Given the description of an element on the screen output the (x, y) to click on. 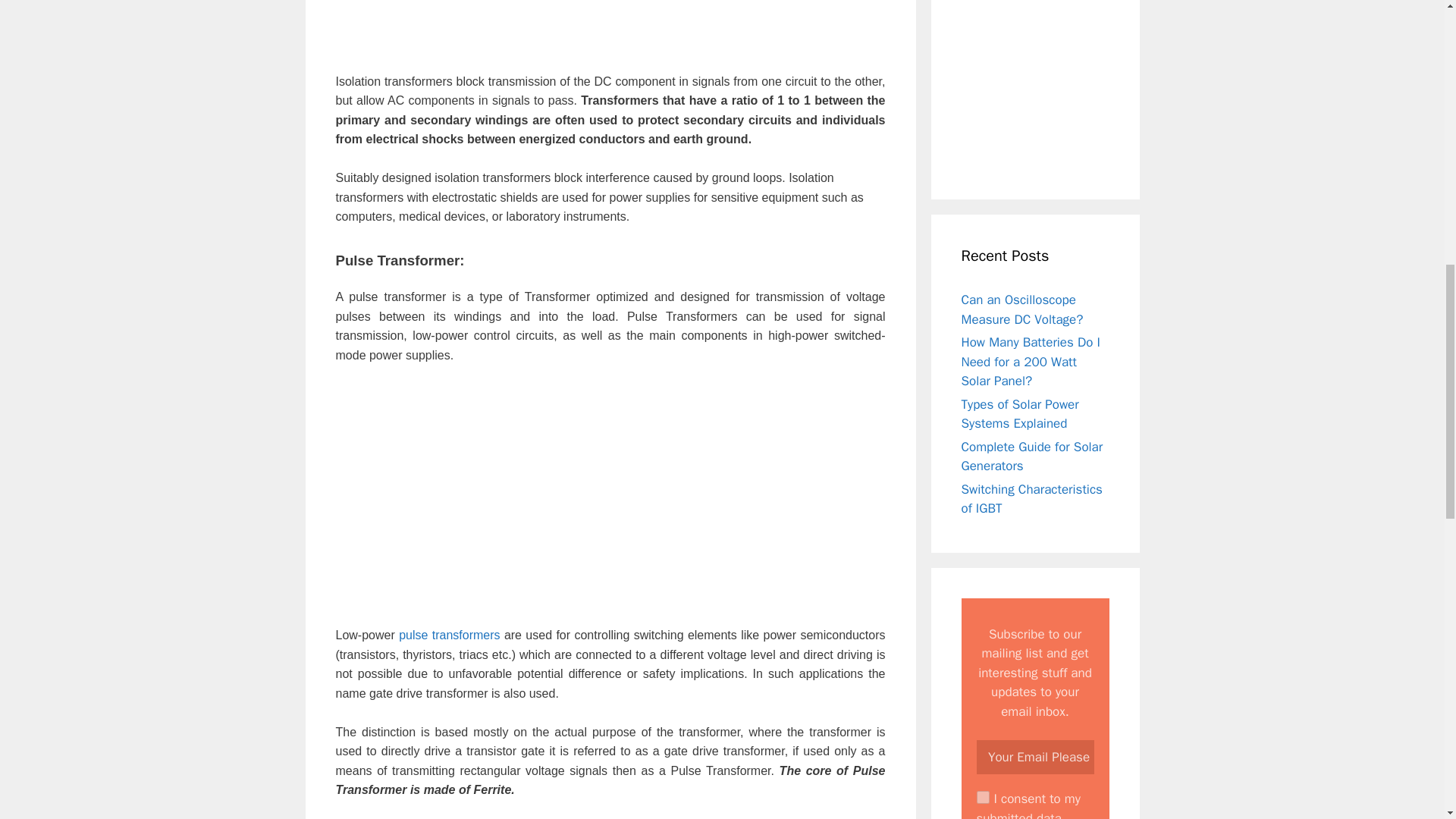
Can an Oscilloscope Measure DC Voltage? (1021, 309)
Types of Solar Power Systems Explained (1019, 413)
pulse transformers (448, 634)
How Many Batteries Do I Need for a 200 Watt Solar Panel? (1030, 361)
Complete Guide for Solar Generators (1031, 456)
on (983, 797)
Switching Characteristics of IGBT (1031, 498)
